Given the description of an element on the screen output the (x, y) to click on. 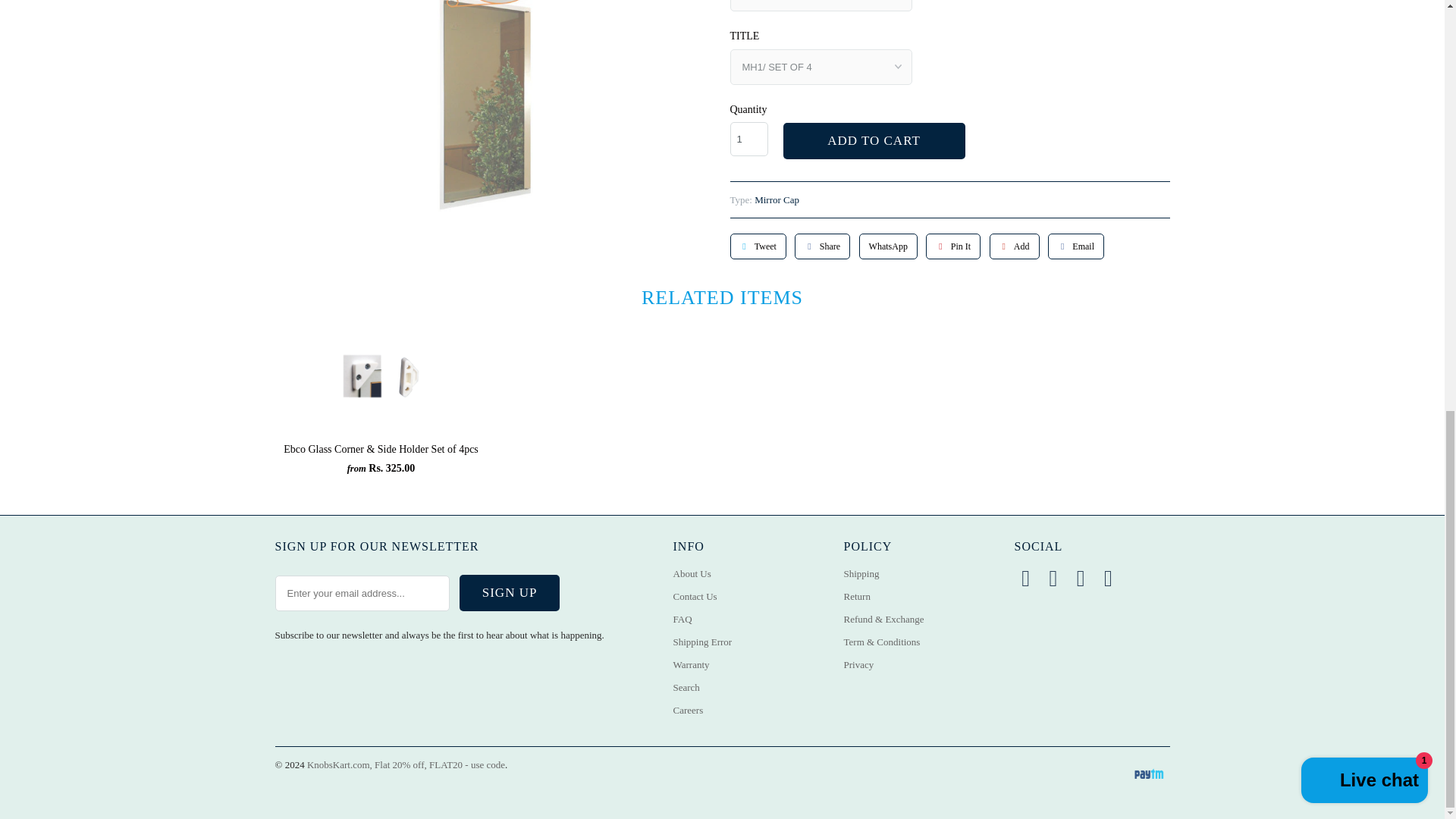
Sign Up (510, 592)
1 (748, 139)
